Given the description of an element on the screen output the (x, y) to click on. 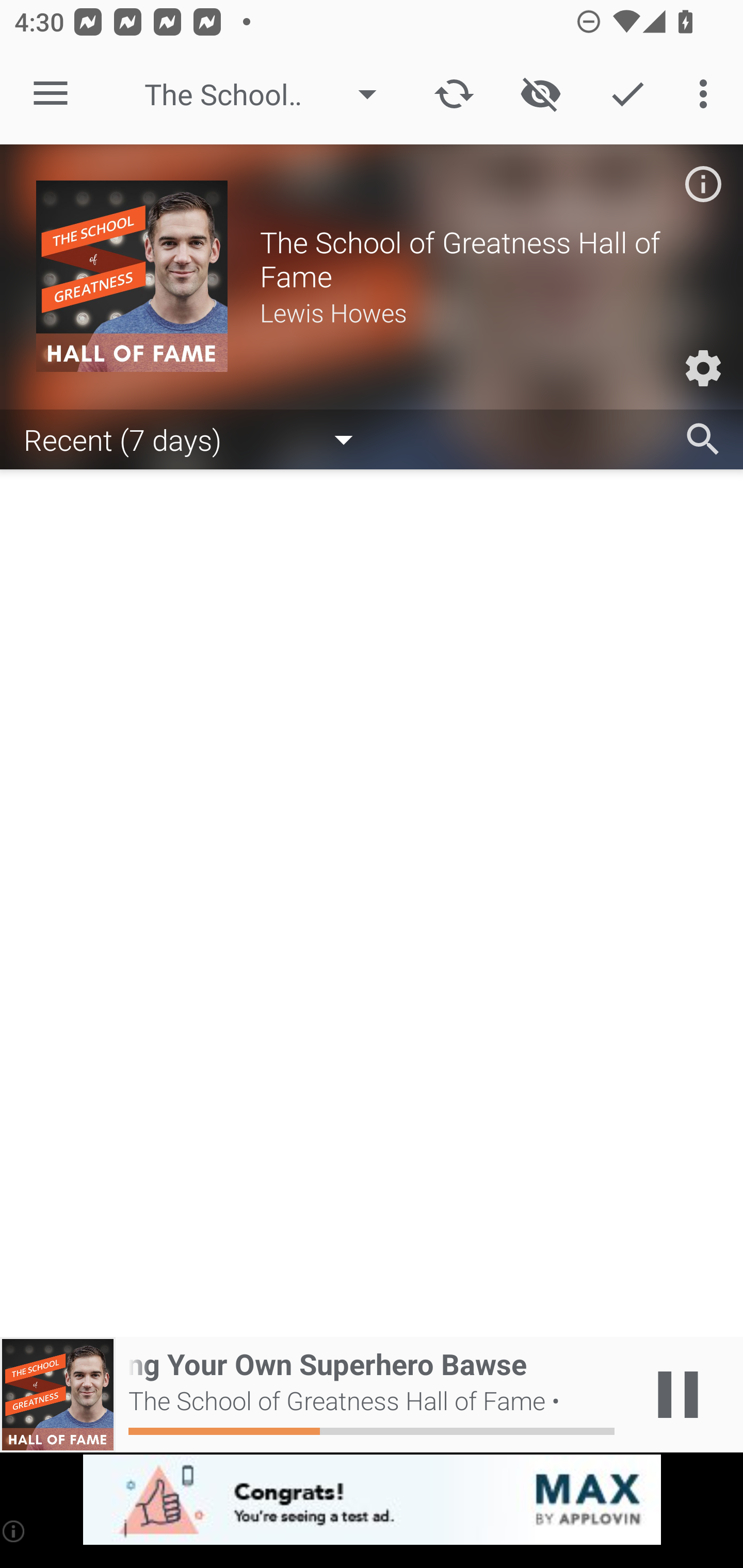
Open navigation sidebar (50, 93)
Update (453, 93)
Show / Hide played content (540, 93)
Action Mode (626, 93)
More options (706, 93)
The School of Greatness Hall of Fame (270, 94)
Podcast description (703, 184)
Lewis Howes (483, 311)
Custom Settings (703, 368)
Search (703, 439)
Recent (7 days) (197, 438)
Play / Pause (677, 1394)
app-monetization (371, 1500)
(i) (14, 1531)
